Given the description of an element on the screen output the (x, y) to click on. 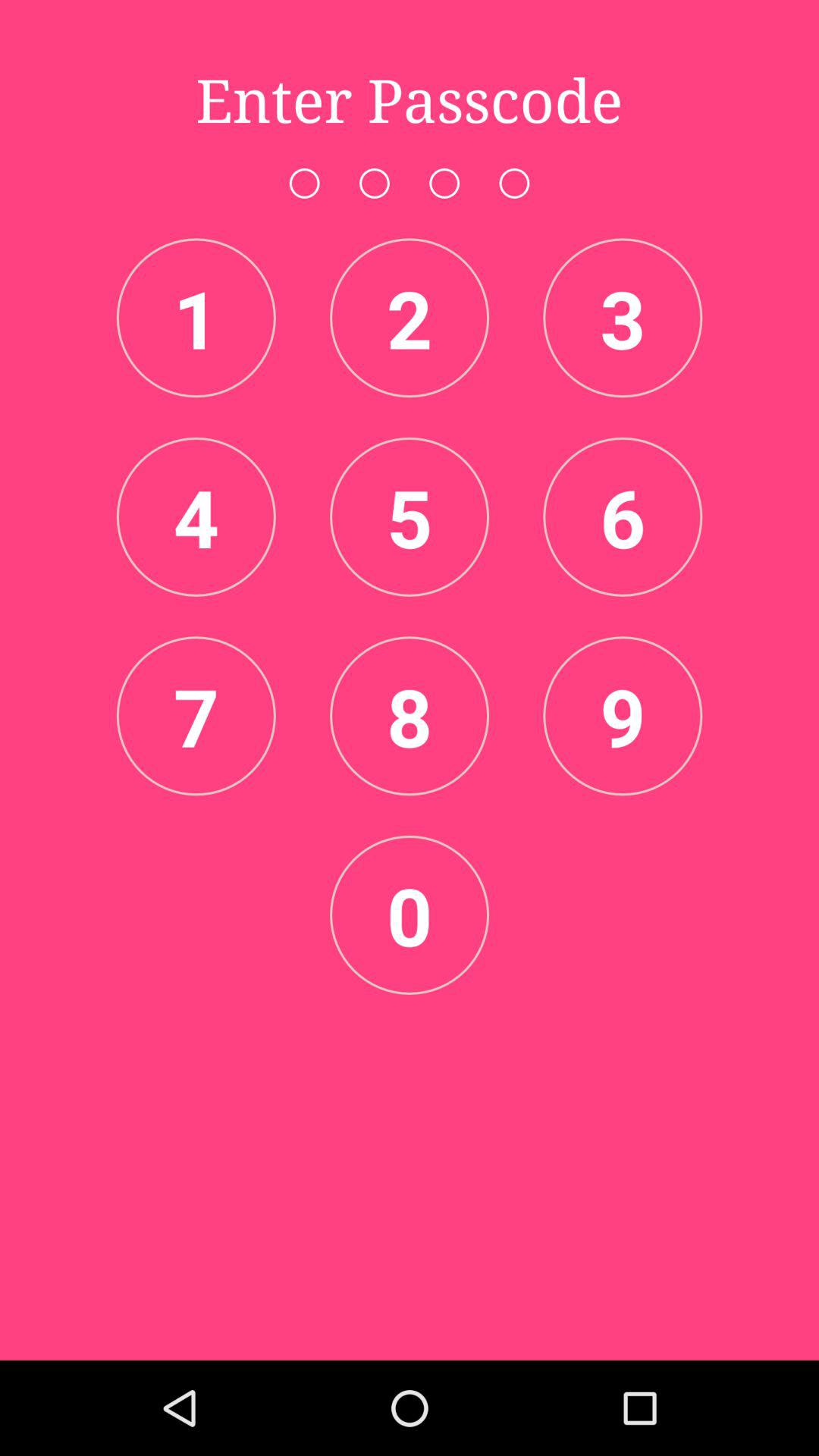
press the item next to 7 item (409, 715)
